Given the description of an element on the screen output the (x, y) to click on. 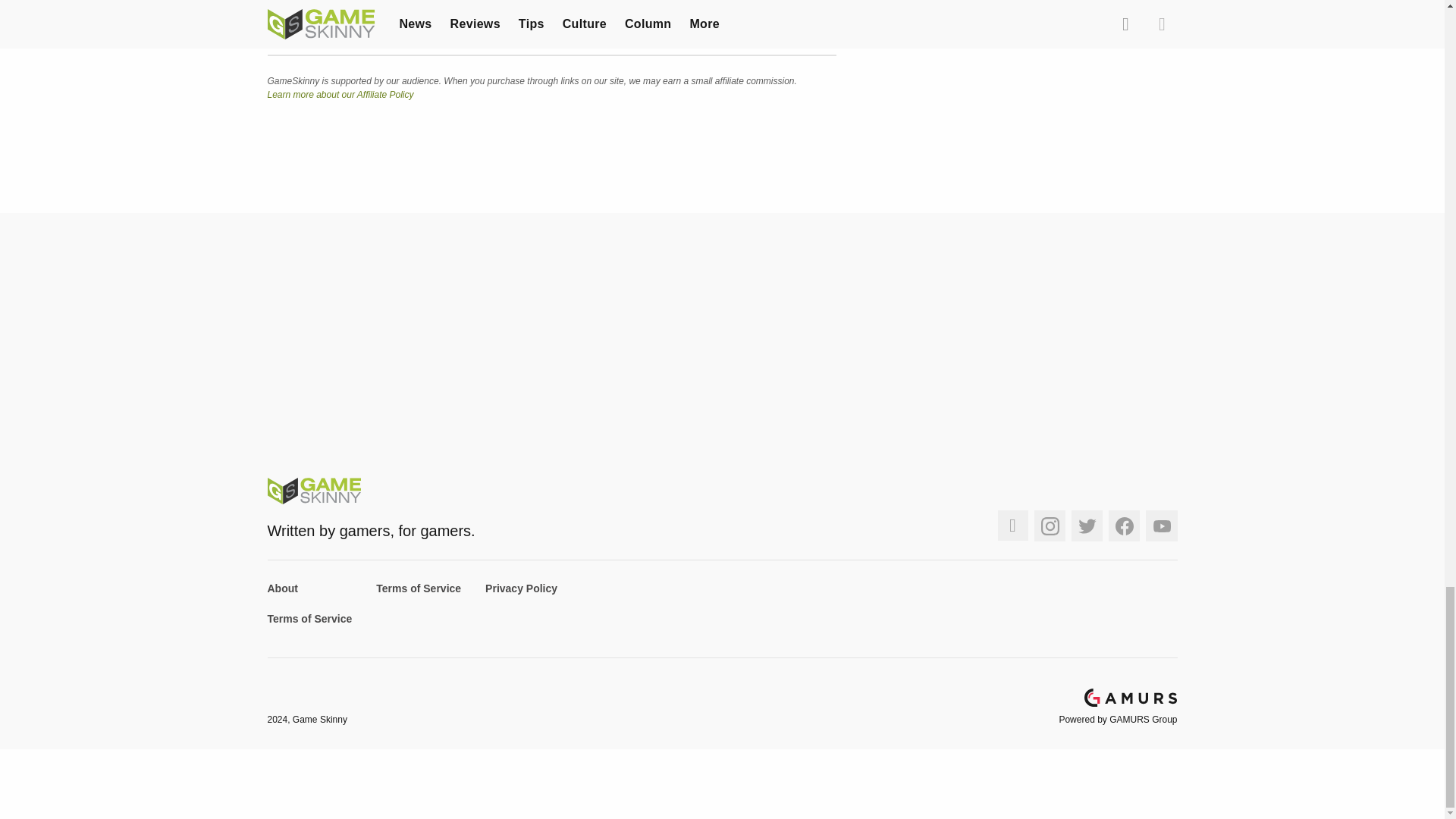
REAL TIME STRATEGY (400, 24)
Learn more about our Affiliate Policy (339, 94)
STRATEGY (521, 24)
NEWS (293, 24)
